Given the description of an element on the screen output the (x, y) to click on. 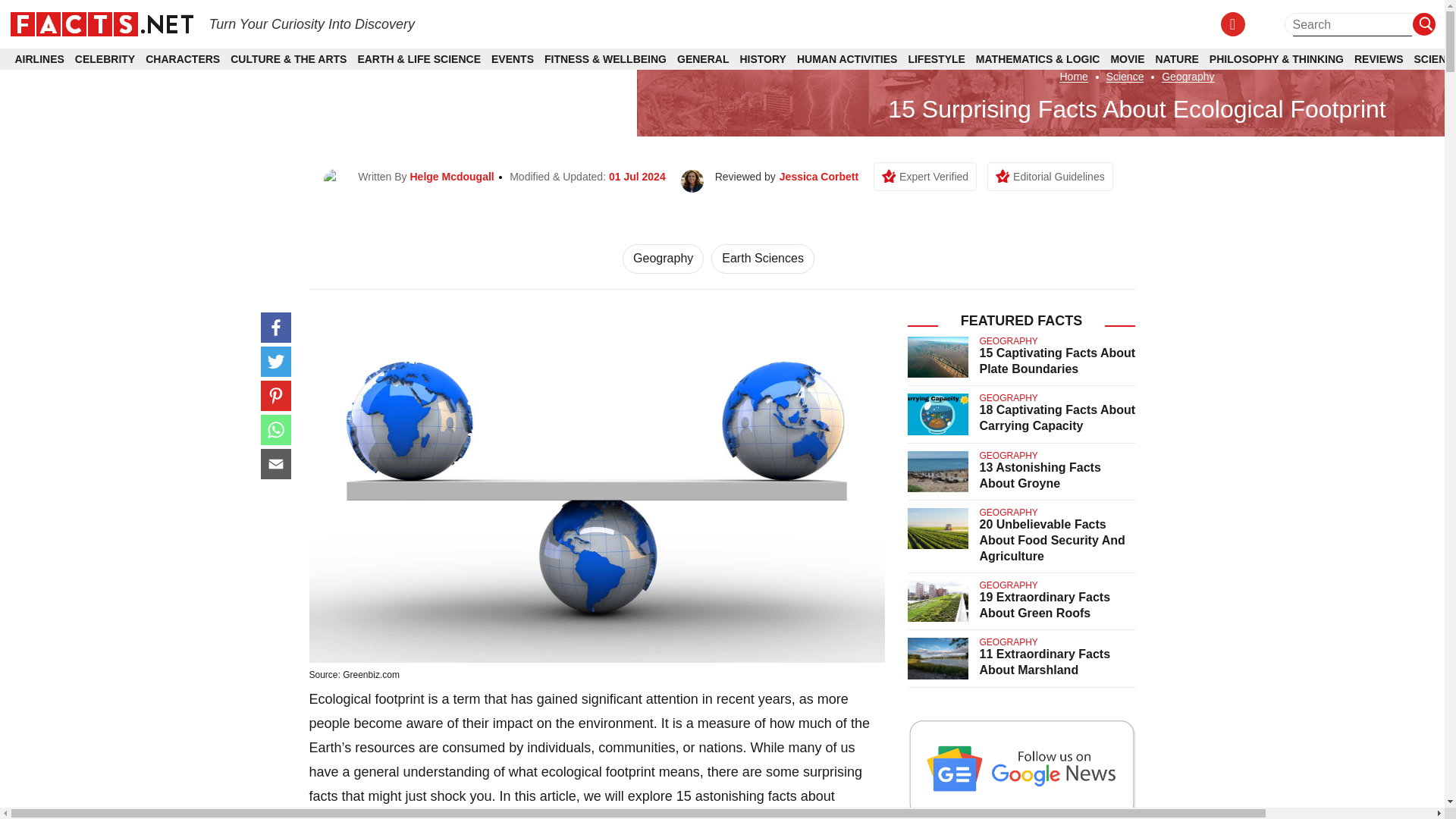
AIRLINES (39, 59)
Facts.net (100, 23)
LIFESTYLE (935, 59)
HUMAN ACTIVITIES (846, 59)
19 Extraordinary Facts About Green Roofs  (1044, 604)
lifestyle (726, 816)
11 Extraordinary Facts About Marshland  (1044, 661)
20 Unbelievable Facts About Food Security And Agriculture  (1052, 539)
CHARACTERS (182, 59)
EVENTS (513, 59)
